Given the description of an element on the screen output the (x, y) to click on. 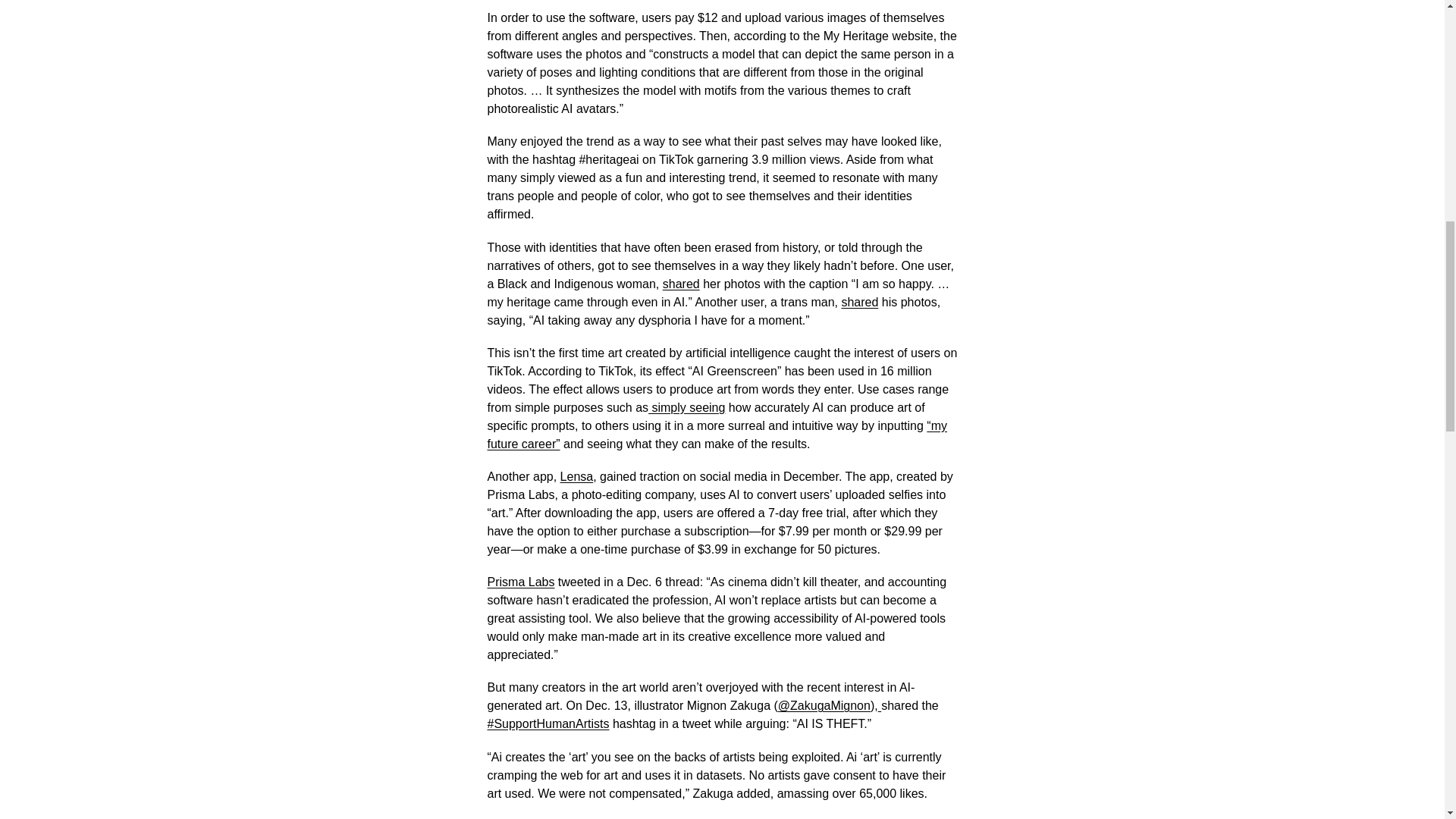
Prisma Labs (520, 581)
Lensa (577, 476)
simply seeing (686, 407)
shared (681, 283)
shared (859, 301)
